Given the description of an element on the screen output the (x, y) to click on. 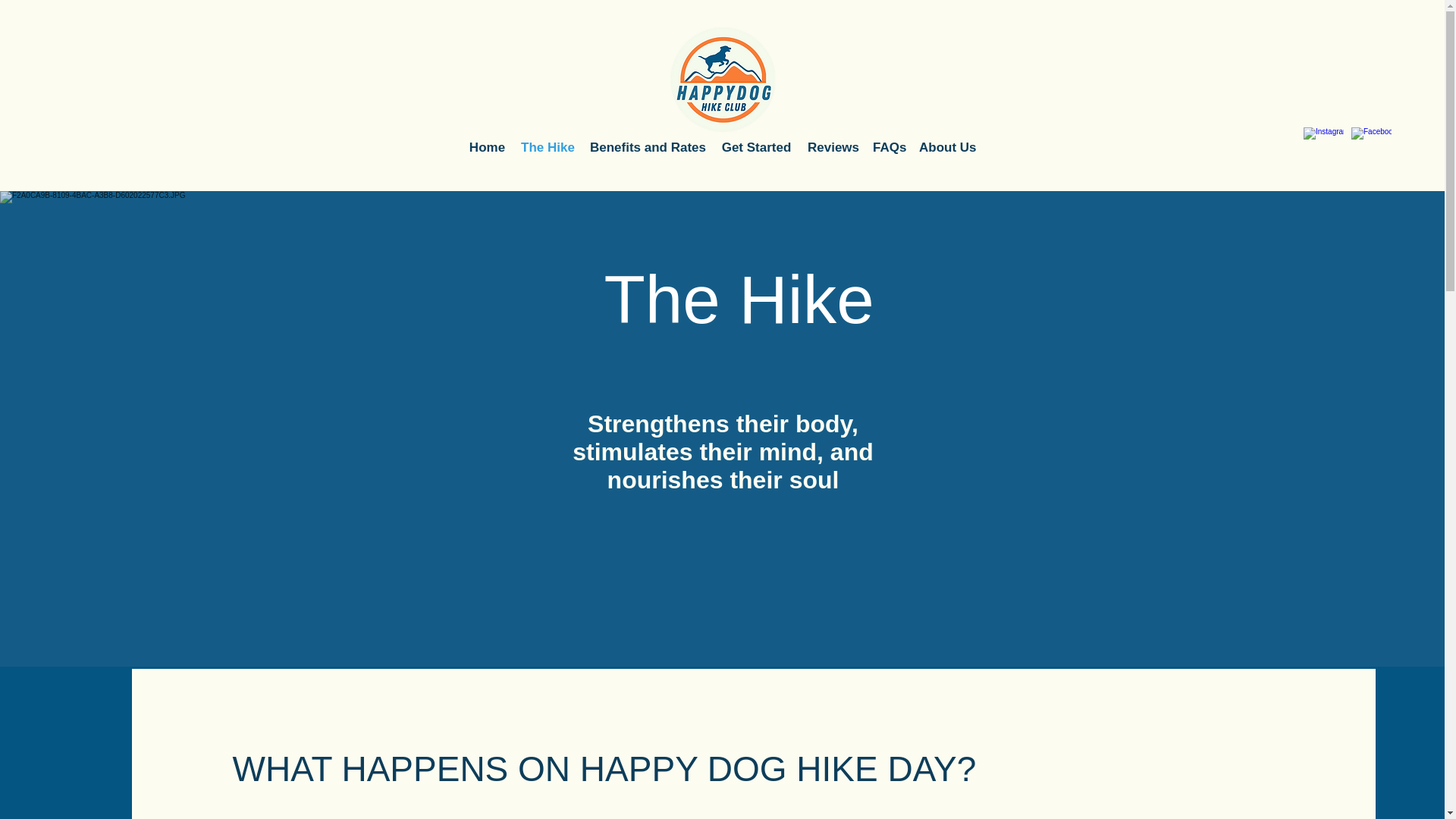
About Us (947, 147)
FAQs (887, 147)
Benefits and Rates (647, 147)
Home (487, 147)
Reviews (831, 147)
The Hike (547, 147)
Get Started (756, 147)
